Given the description of an element on the screen output the (x, y) to click on. 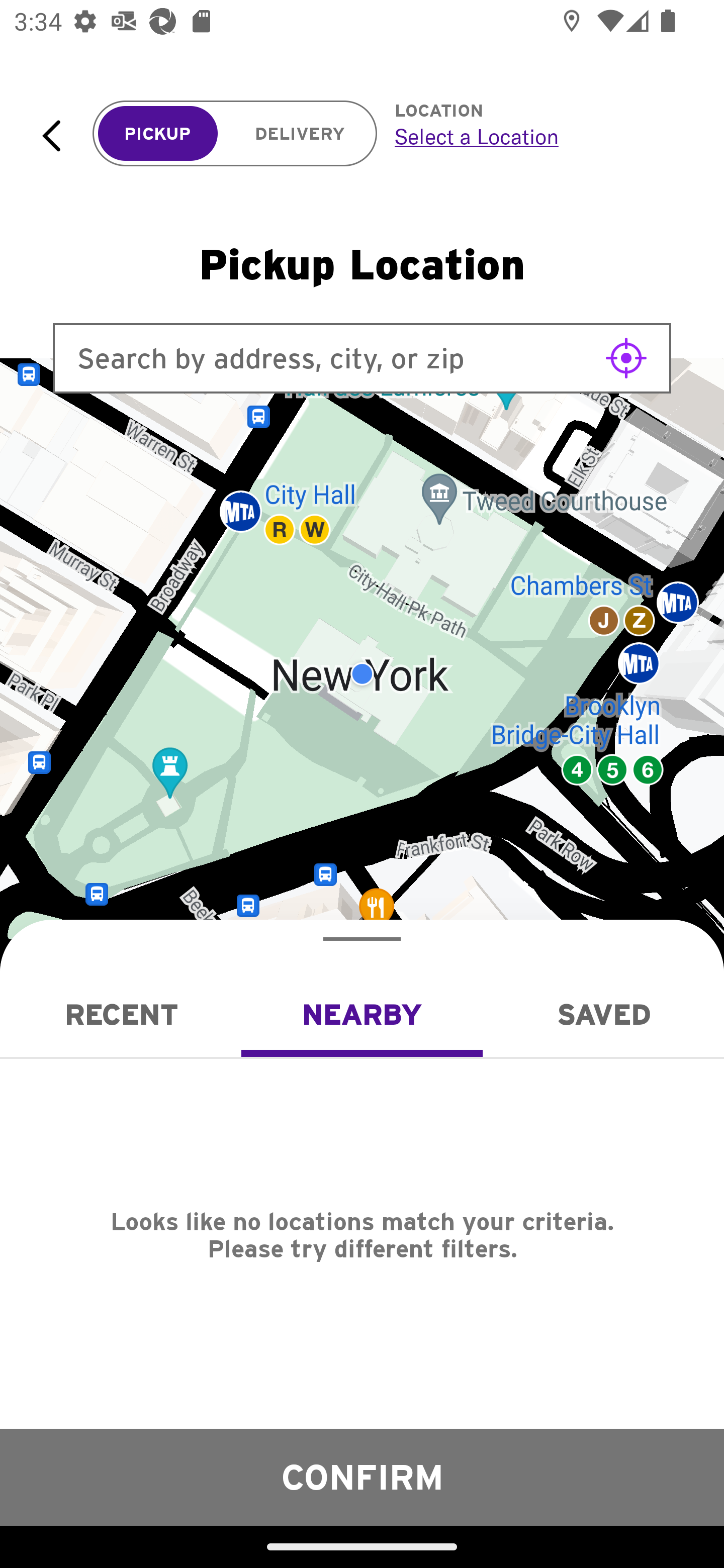
PICKUP (157, 133)
DELIVERY (299, 133)
Select a Location (536, 136)
Search by address, city, or zip (361, 358)
Google Map (362, 674)
Recent RECENT (120, 1014)
Saved SAVED (603, 1014)
CONFIRM (362, 1476)
